Given the description of an element on the screen output the (x, y) to click on. 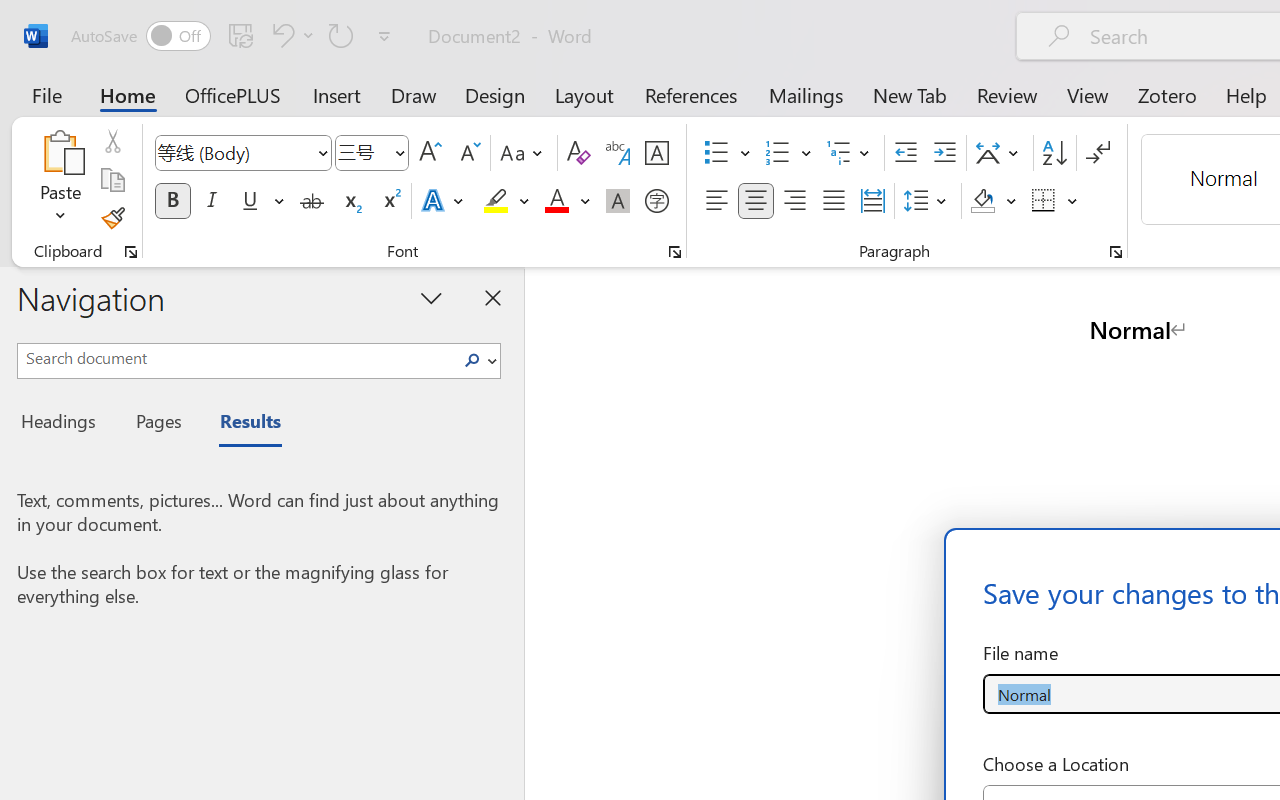
Undo Style (290, 35)
Cut (112, 141)
Superscript (390, 201)
AutoSave (140, 35)
Undo Style (280, 35)
OfficePLUS (233, 94)
Bullets (727, 153)
Character Border (656, 153)
Task Pane Options (431, 297)
Font (234, 152)
Pages (156, 424)
Copy (112, 179)
Strikethrough (312, 201)
Design (495, 94)
